Given the description of an element on the screen output the (x, y) to click on. 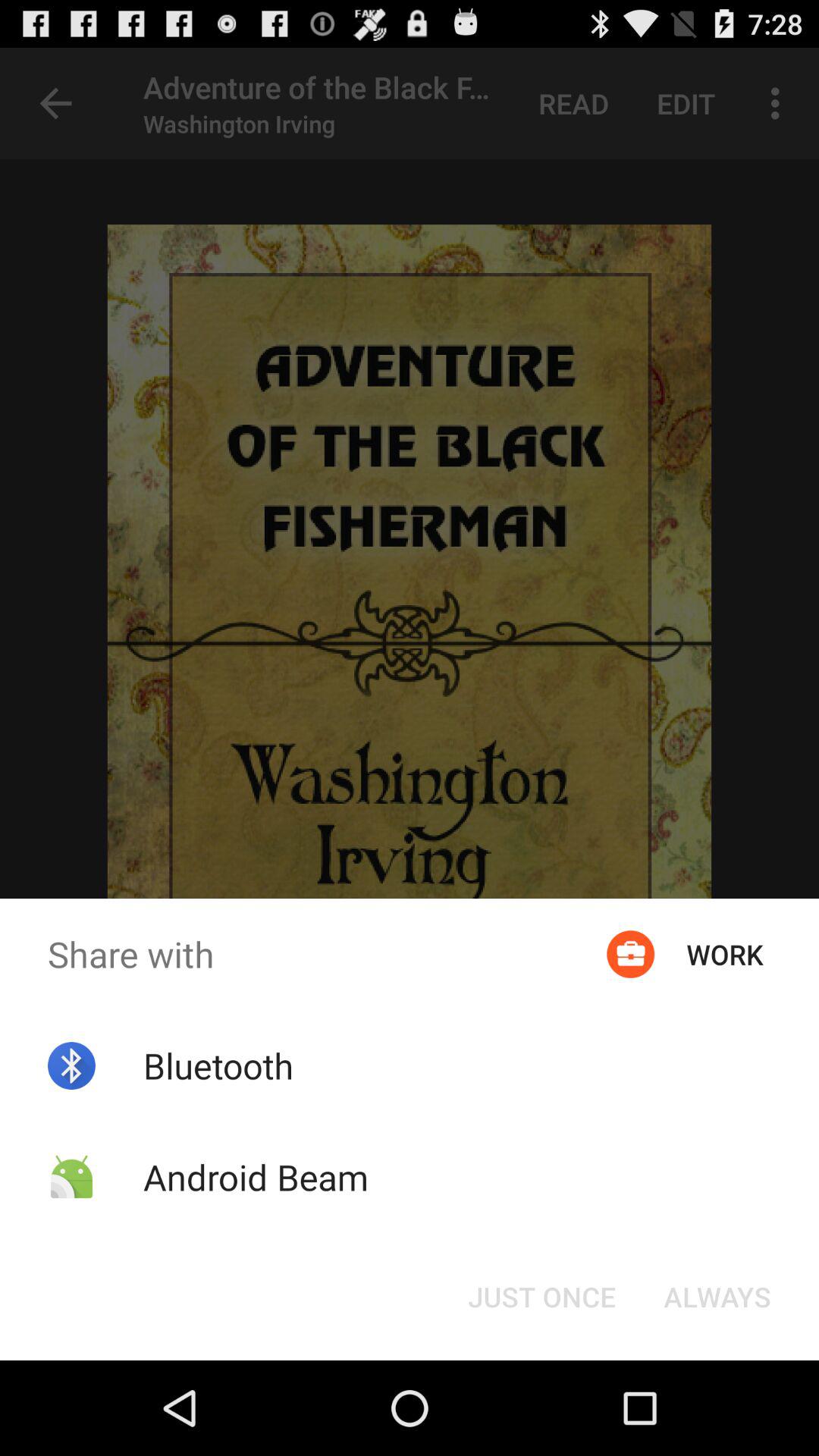
press the item below share with item (541, 1296)
